Given the description of an element on the screen output the (x, y) to click on. 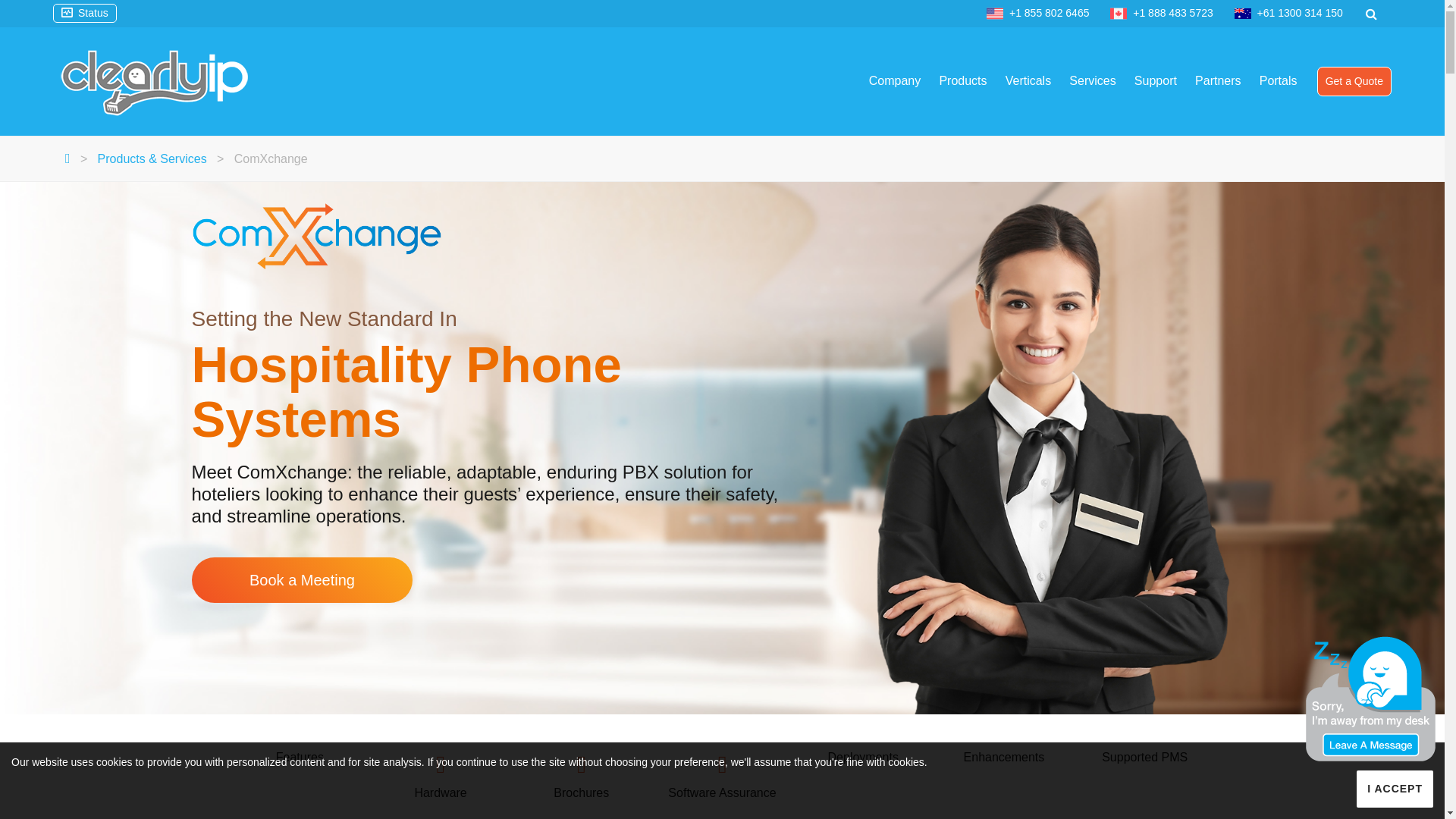
Partners Element type: text (1217, 81)
Support Element type: text (1155, 81)
+1 855 802 6465 Element type: text (1049, 12)
Portals Element type: text (1278, 81)
Company Element type: text (894, 81)
Products & Services Element type: text (152, 158)
+61 1300 314 150 Element type: text (1300, 12)
Features Element type: text (299, 756)
Products Element type: text (962, 81)
I Accept Element type: text (1394, 788)
I Deny Element type: text (30, 18)
Services Element type: text (1092, 81)
Supported PMS Element type: text (1144, 756)
Get a Quote Element type: text (1354, 81)
Book a Meeting Element type: text (301, 579)
Deployments Element type: text (862, 756)
+1 888 483 5723 Element type: text (1172, 12)
Software Assurance Element type: text (722, 774)
Hardware Element type: text (440, 774)
Verticals Element type: text (1028, 81)
Enhancements Element type: text (1003, 756)
